Given the description of an element on the screen output the (x, y) to click on. 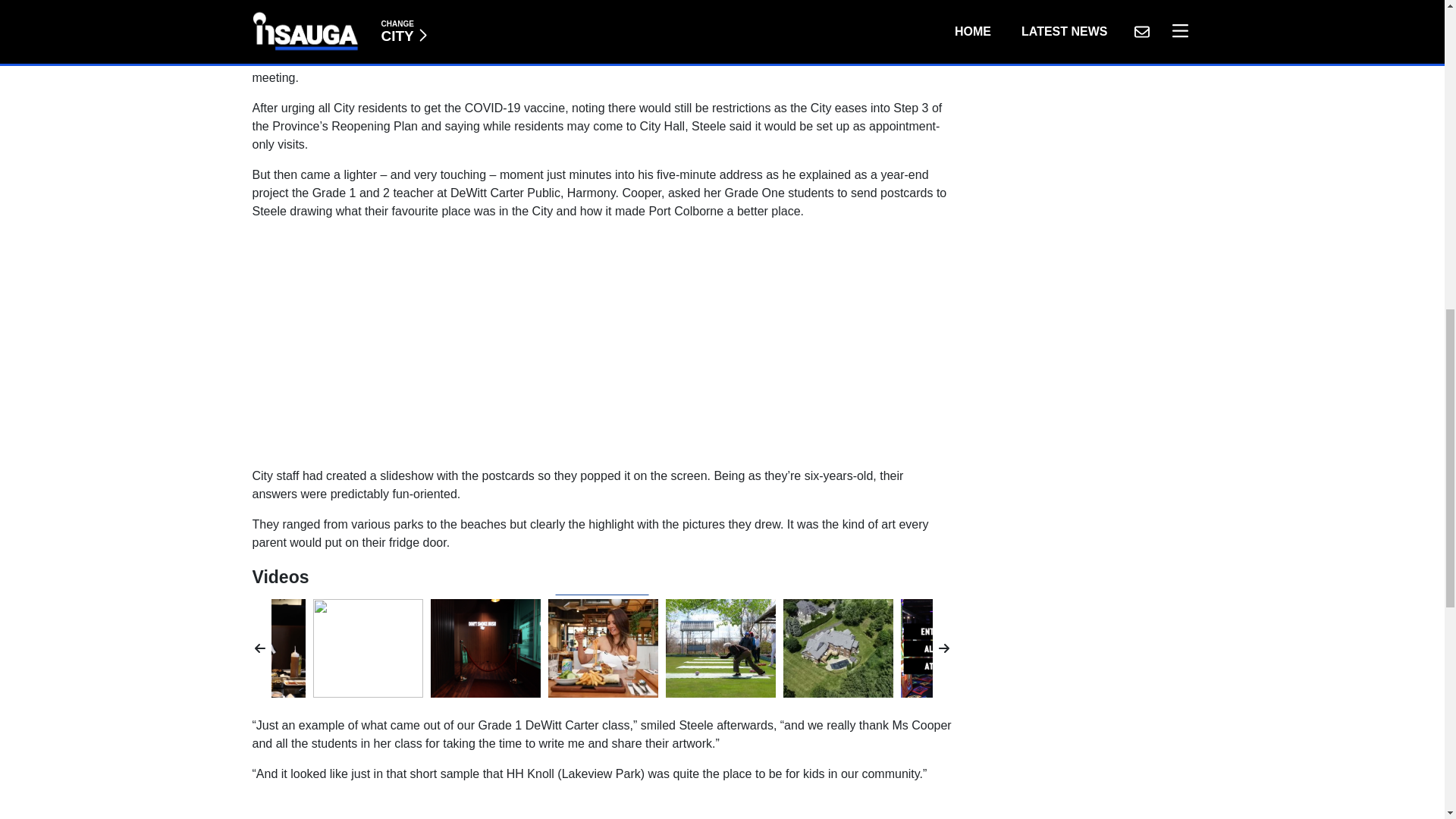
3rd party ad content (601, 18)
